Given the description of an element on the screen output the (x, y) to click on. 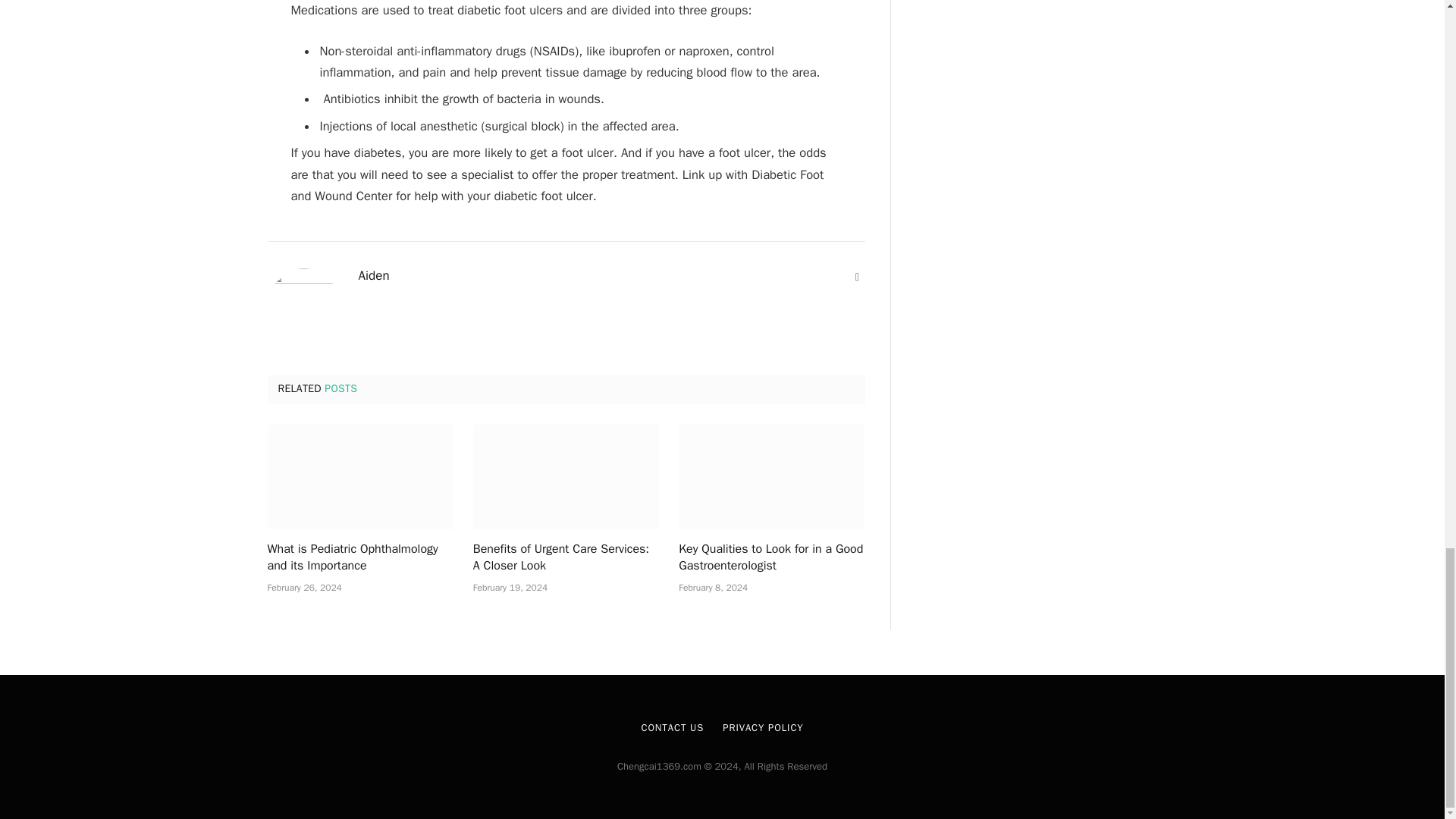
What is Pediatric Ophthalmology and its Importance (359, 477)
Posts by Aiden (373, 275)
Key Qualities to Look for in a Good Gastroenterologist (771, 477)
Benefits of Urgent Care Services: A Closer Look (566, 477)
Aiden (373, 275)
Key Qualities to Look for in a Good Gastroenterologist (771, 557)
Website (856, 277)
Benefits of Urgent Care Services: A Closer Look (566, 557)
What is Pediatric Ophthalmology and its Importance (359, 557)
Website (856, 277)
